Given the description of an element on the screen output the (x, y) to click on. 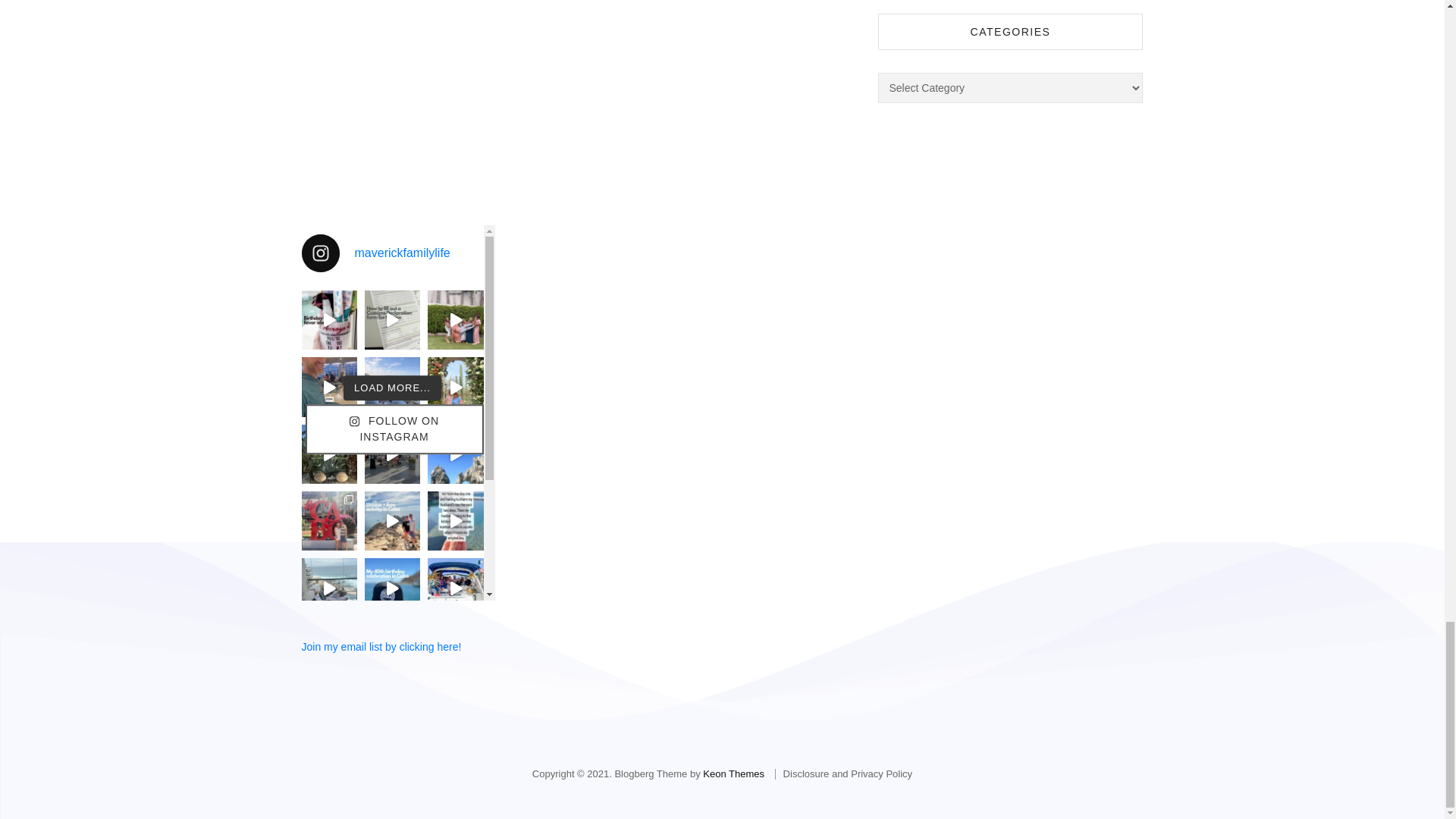
maverickfamilylife (392, 252)
